Given the description of an element on the screen output the (x, y) to click on. 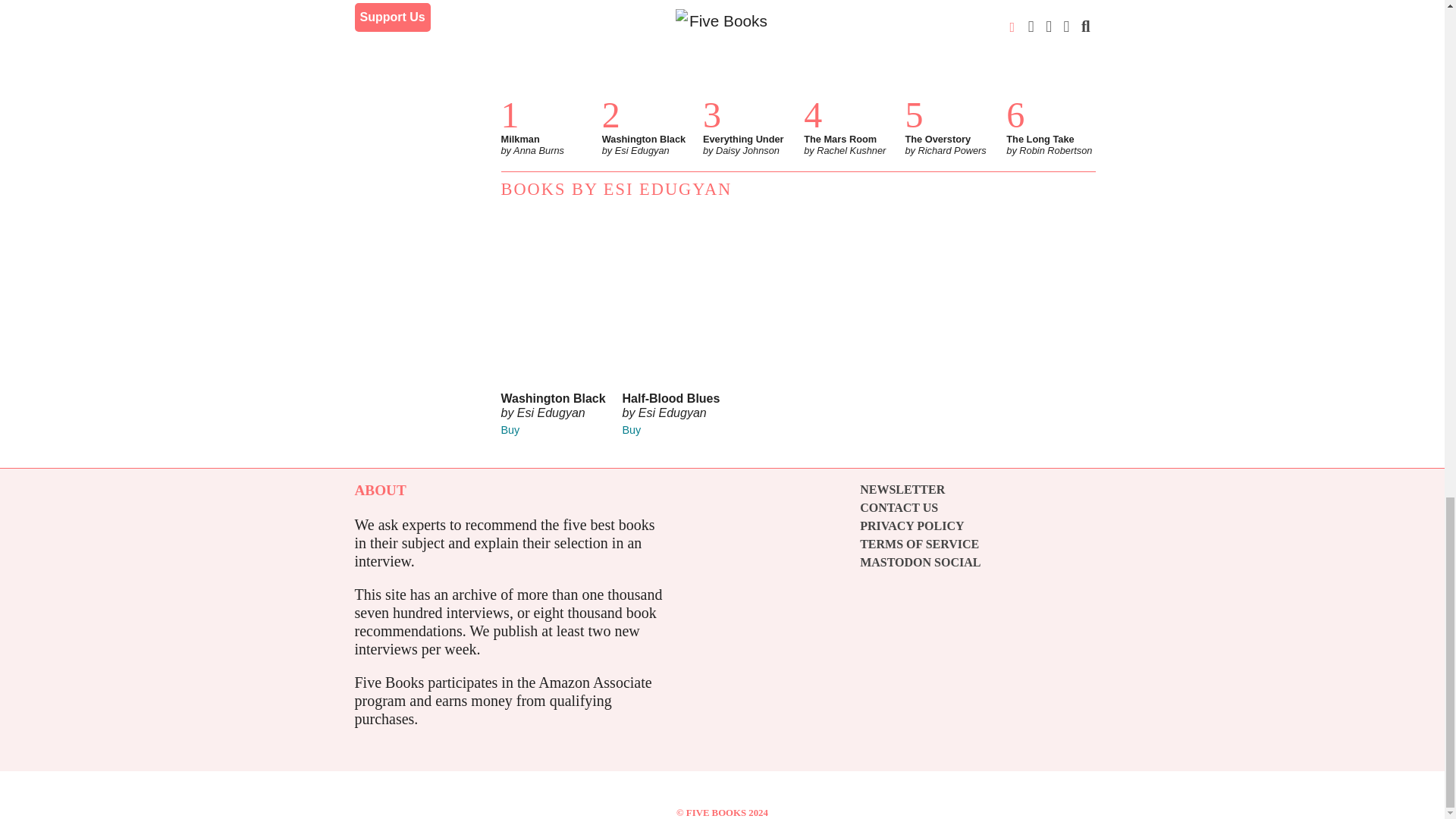
The Best Fiction of 2018 - The Overstory by Richard Powers (948, 53)
The Best Fiction of 2018 - The Long Take by Robin Robertson (1050, 53)
The Best Fiction of 2018 - Everything Under by Daisy Johnson (747, 53)
The Best Fiction of 2018 - Milkman by Anna Burns (544, 53)
The Best Fiction of 2018 - Washington Black by Esi Edugyan (646, 53)
The Best Fiction of 2018 - The Mars Room by Rachel Kushner (847, 53)
